Given the description of an element on the screen output the (x, y) to click on. 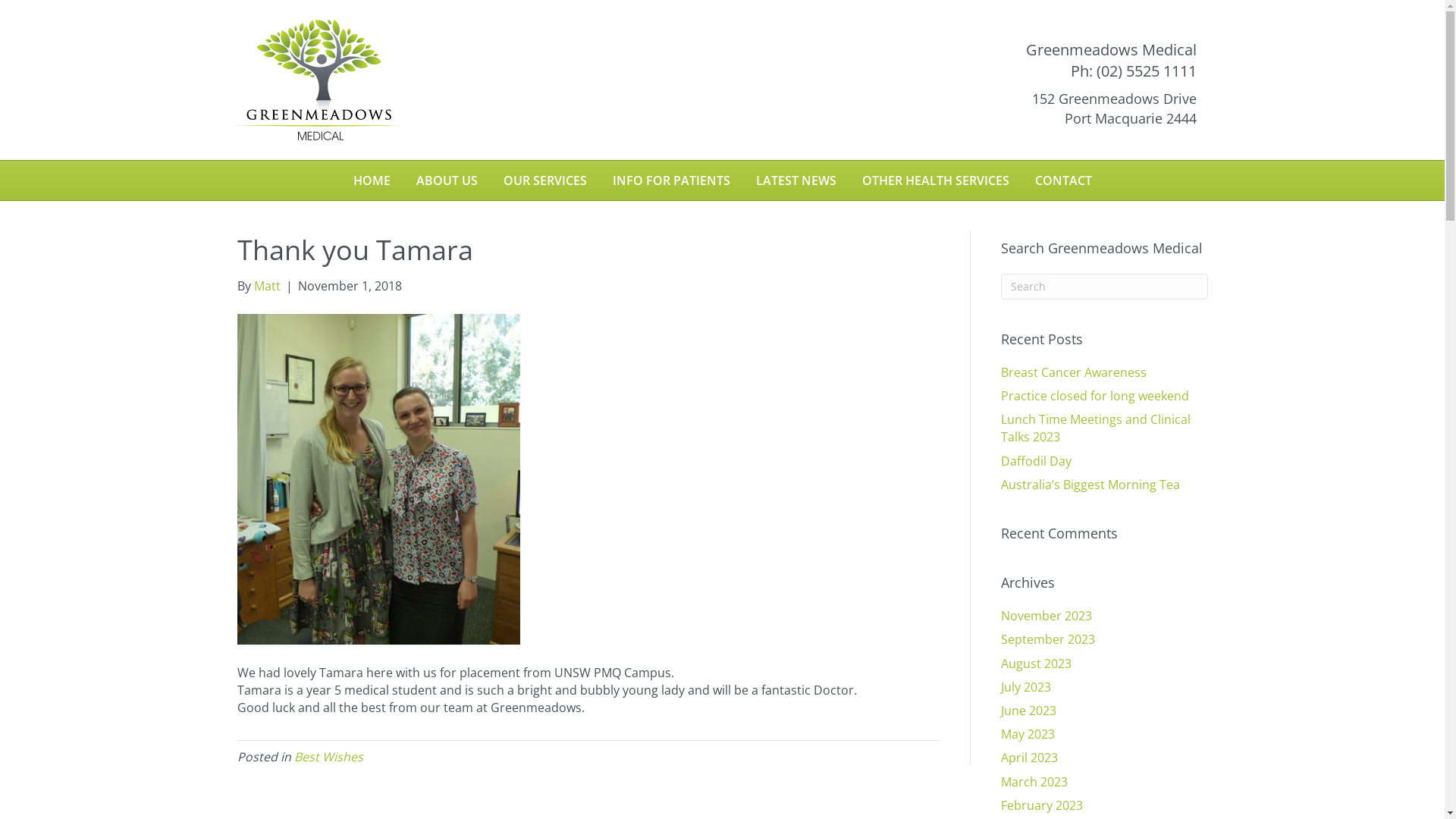
Type and press Enter to search. Element type: hover (1104, 286)
February 2023 Element type: text (1041, 805)
Breast Cancer Awareness Element type: text (1073, 372)
Best Wishes Element type: text (328, 756)
INFO FOR PATIENTS Element type: text (670, 180)
April 2023 Element type: text (1029, 757)
March 2023 Element type: text (1034, 781)
OUR SERVICES Element type: text (544, 180)
Practice closed for long weekend Element type: text (1095, 395)
Lunch Time Meetings and Clinical Talks 2023 Element type: text (1095, 428)
ABOUT US Element type: text (446, 180)
August 2023 Element type: text (1036, 663)
July 2023 Element type: text (1026, 686)
HOME Element type: text (371, 180)
May 2023 Element type: text (1027, 733)
Ph: (02) 5525 1111 Element type: text (1133, 70)
Daffodil Day Element type: text (1036, 460)
June 2023 Element type: text (1028, 710)
CONTACT Element type: text (1063, 180)
LATEST NEWS Element type: text (795, 180)
September 2023 Element type: text (1048, 638)
OTHER HEALTH SERVICES Element type: text (935, 180)
November 2023 Element type: text (1046, 615)
Matt Element type: text (266, 285)
